Given the description of an element on the screen output the (x, y) to click on. 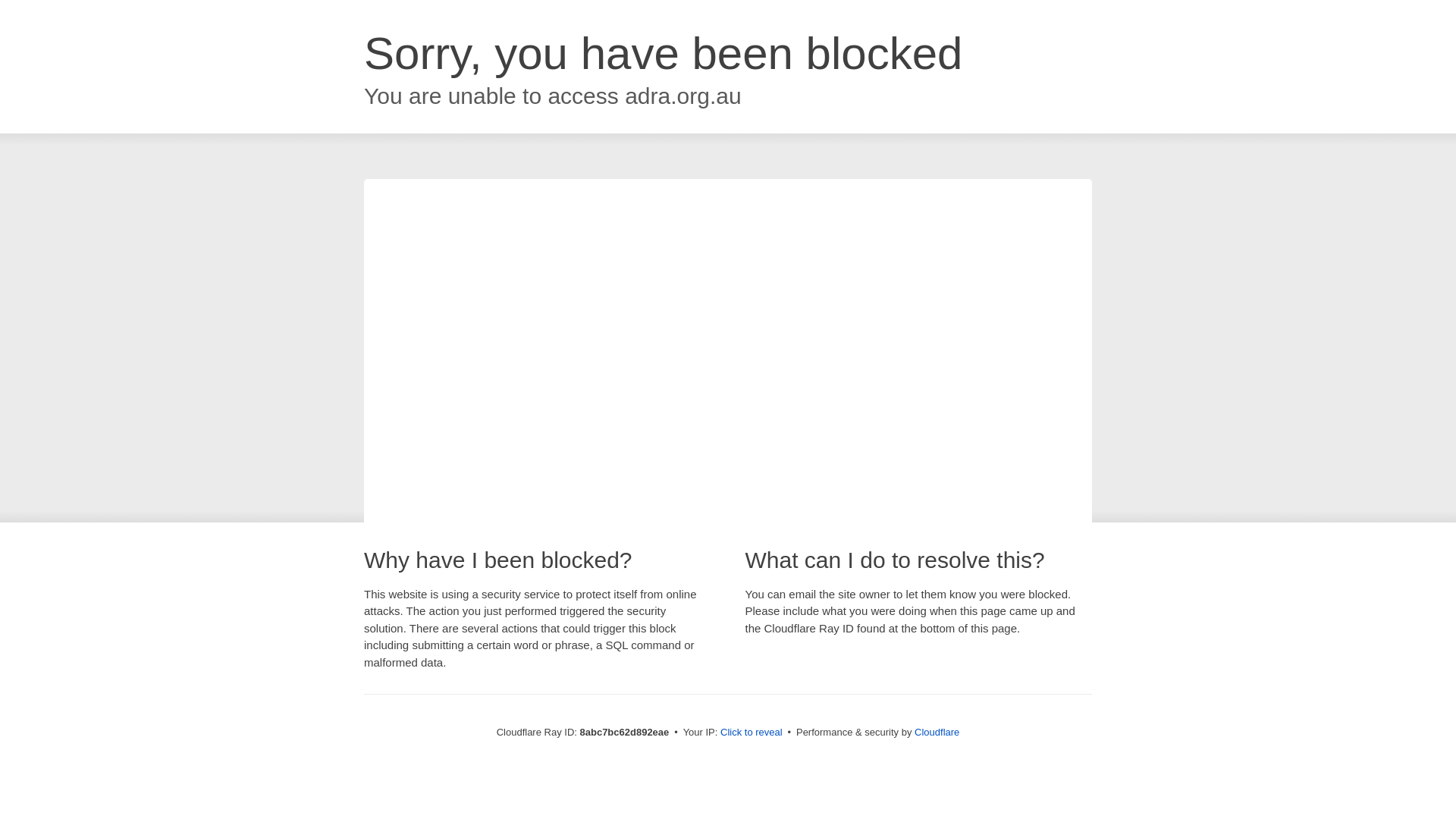
Click to reveal (751, 732)
Cloudflare (936, 731)
